Given the description of an element on the screen output the (x, y) to click on. 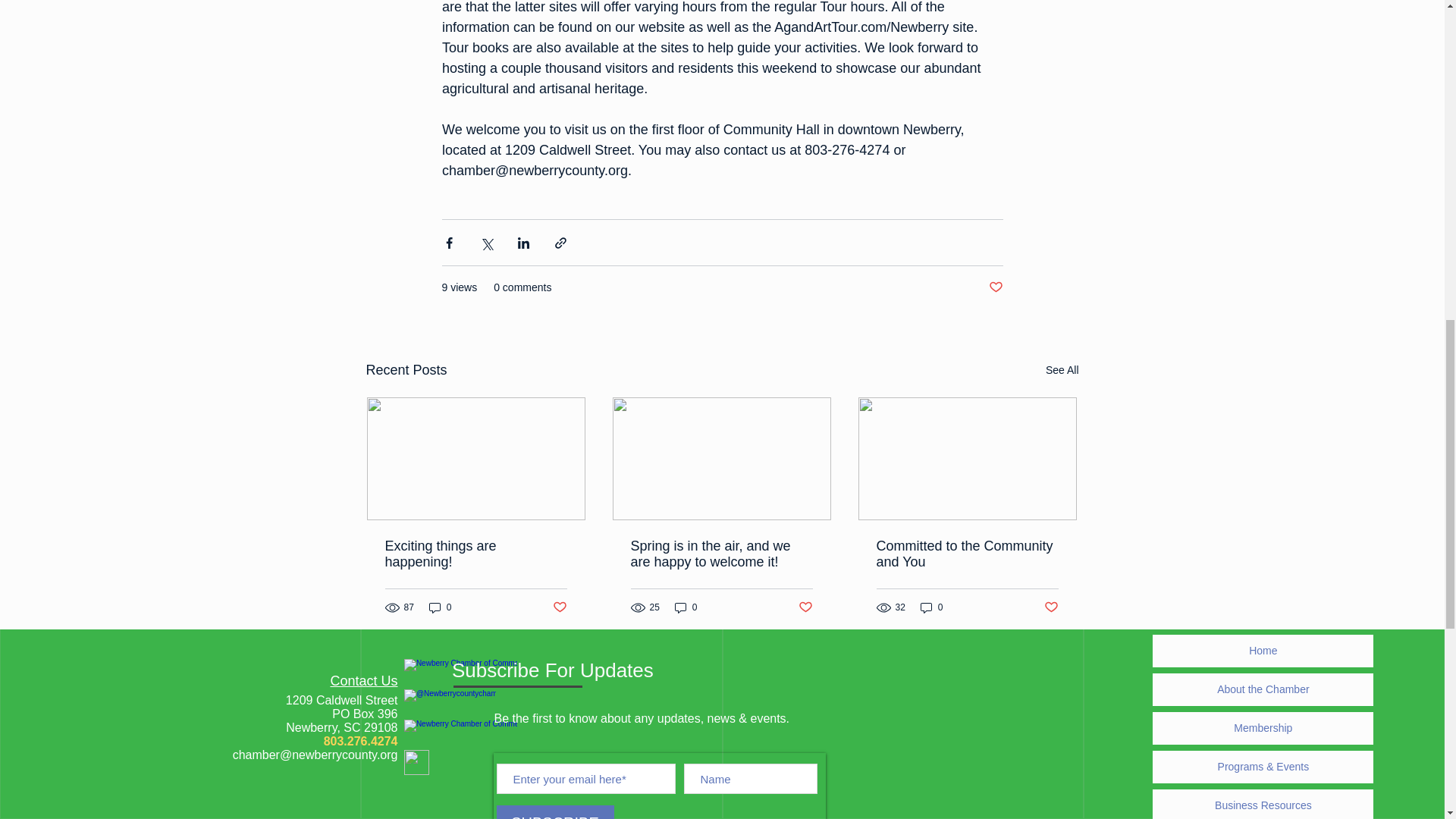
0 (685, 607)
See All (1061, 370)
Spring is in the air, and we are happy to welcome it! (721, 554)
0 (440, 607)
Committed to the Community and You (967, 554)
0 (931, 607)
Post not marked as liked (995, 287)
Post not marked as liked (804, 606)
Exciting things are happening! (476, 554)
Post not marked as liked (1050, 606)
